Given the description of an element on the screen output the (x, y) to click on. 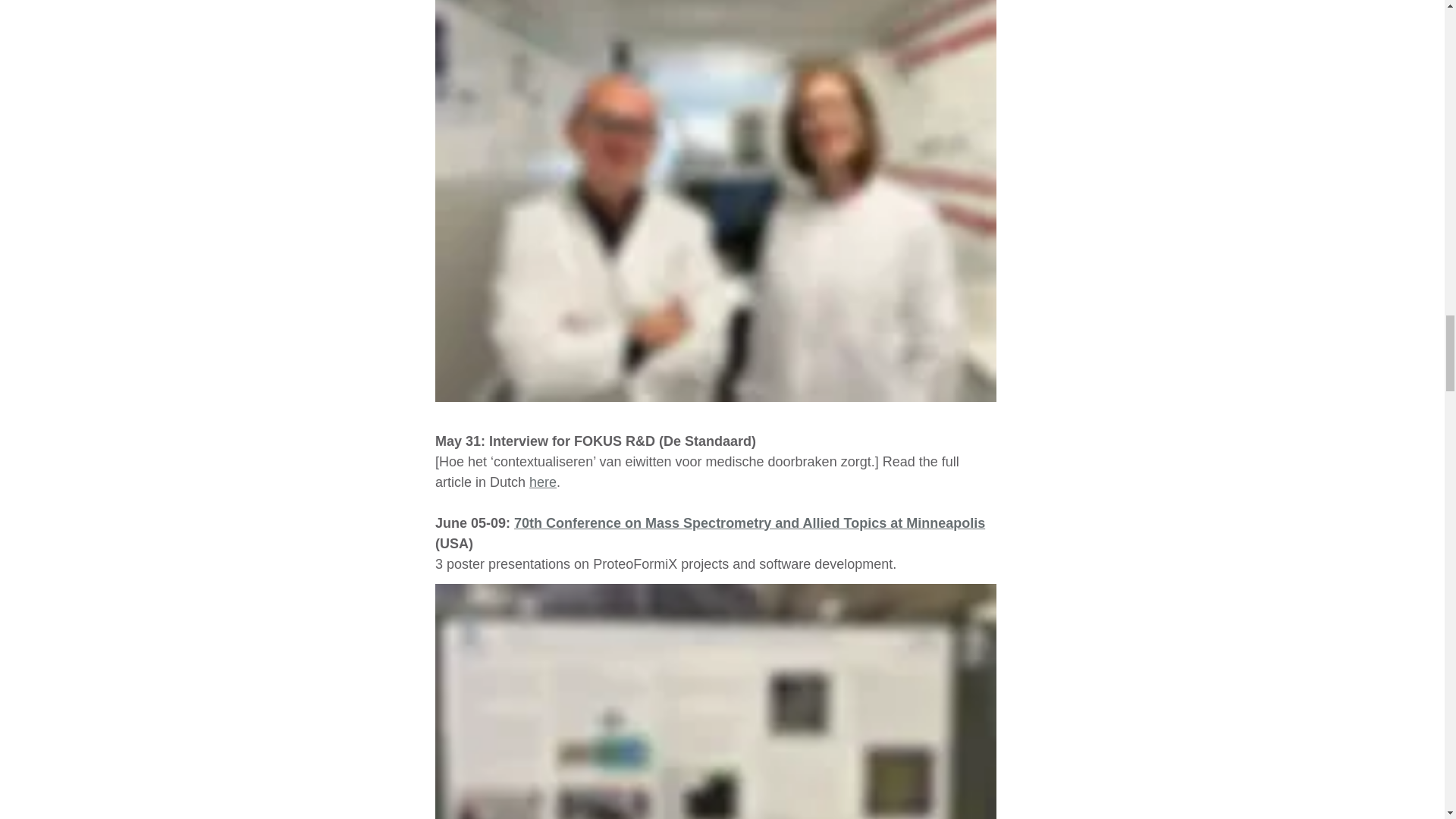
here (542, 481)
